Given the description of an element on the screen output the (x, y) to click on. 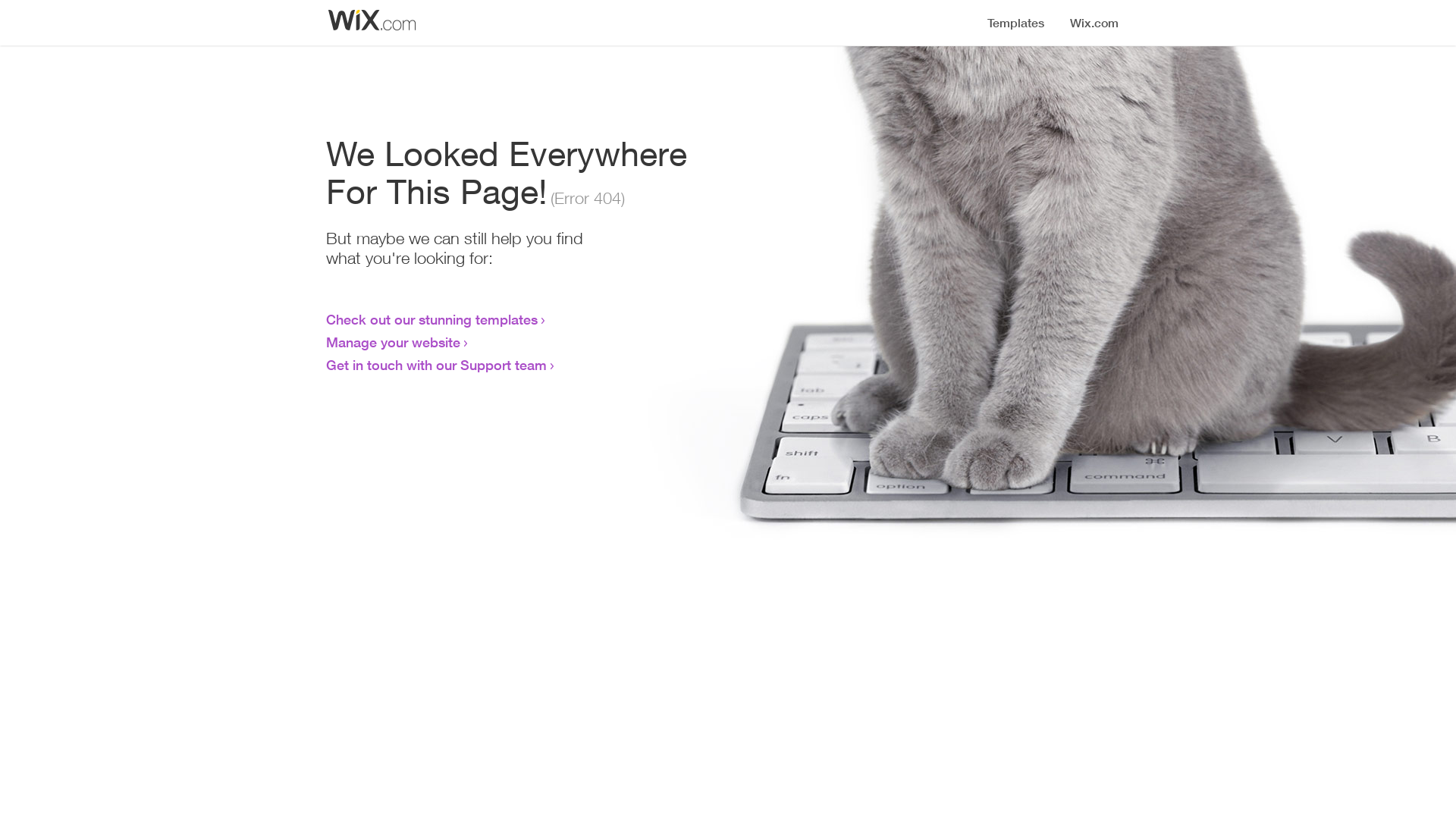
Manage your website Element type: text (393, 341)
Check out our stunning templates Element type: text (431, 318)
Get in touch with our Support team Element type: text (436, 364)
